Given the description of an element on the screen output the (x, y) to click on. 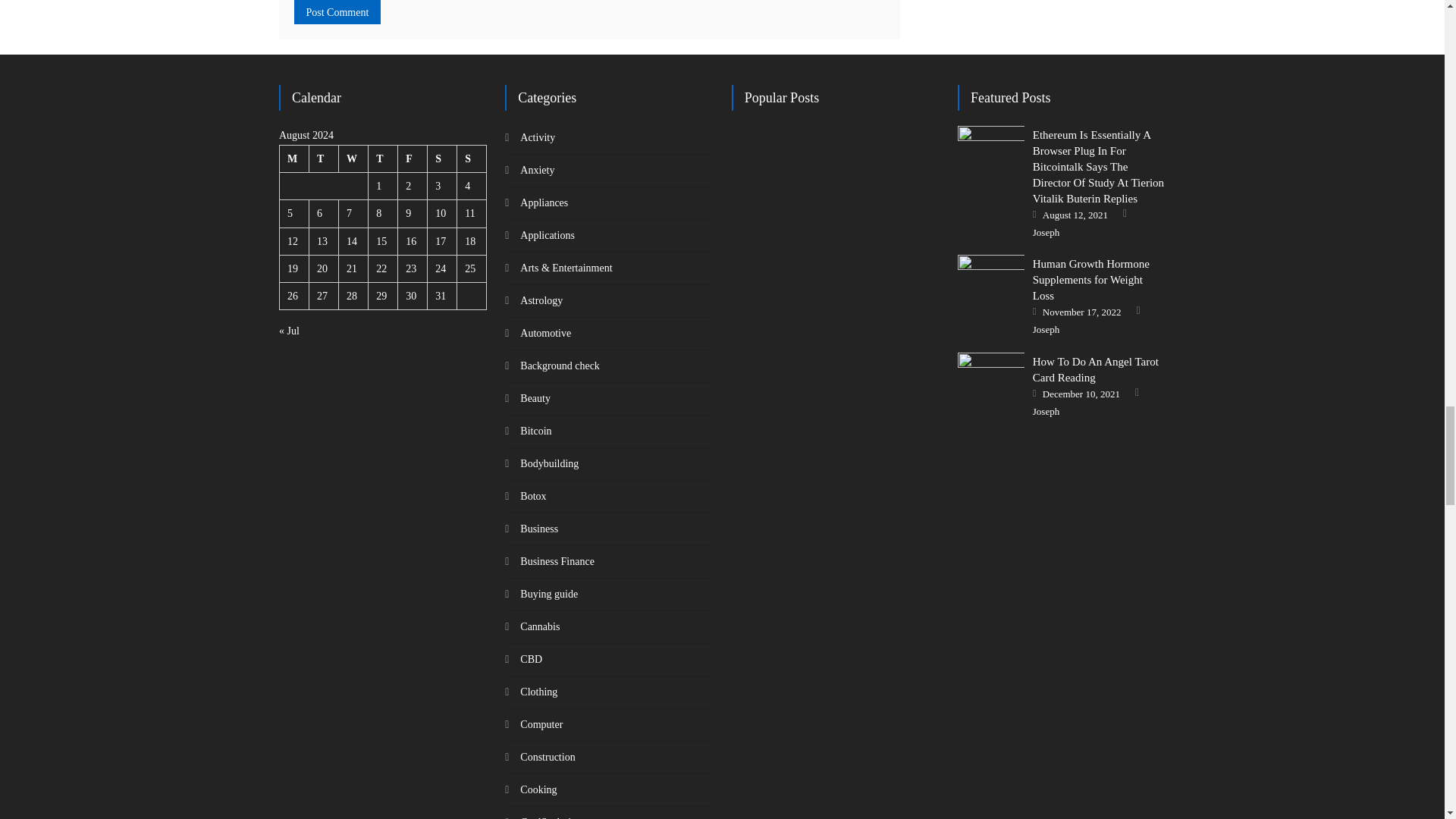
Saturday (442, 158)
Sunday (471, 158)
Tuesday (323, 158)
Monday (293, 158)
Wednesday (353, 158)
Thursday (382, 158)
Post Comment (337, 12)
Friday (412, 158)
